Given the description of an element on the screen output the (x, y) to click on. 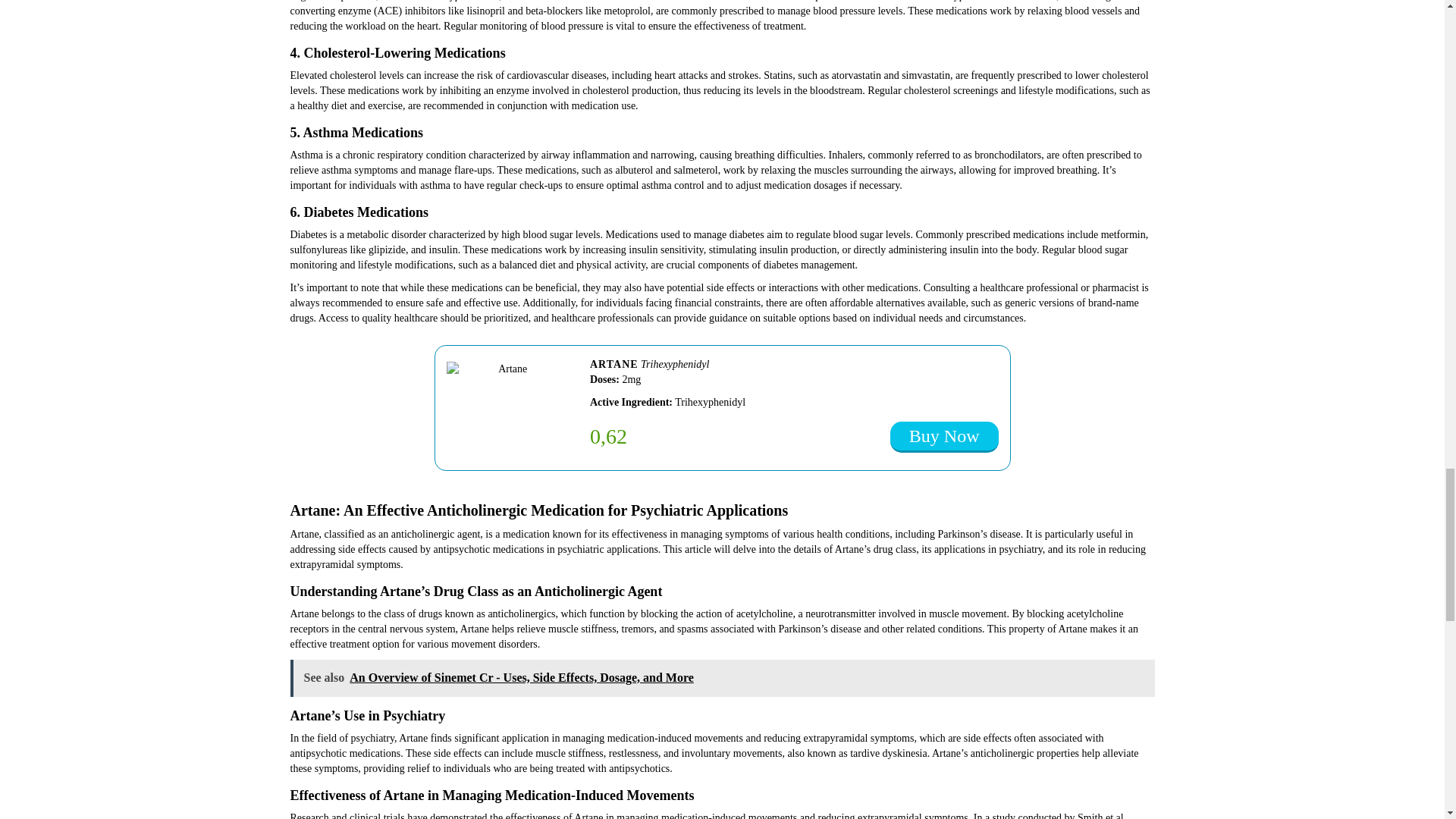
Buy Now (943, 436)
